Given the description of an element on the screen output the (x, y) to click on. 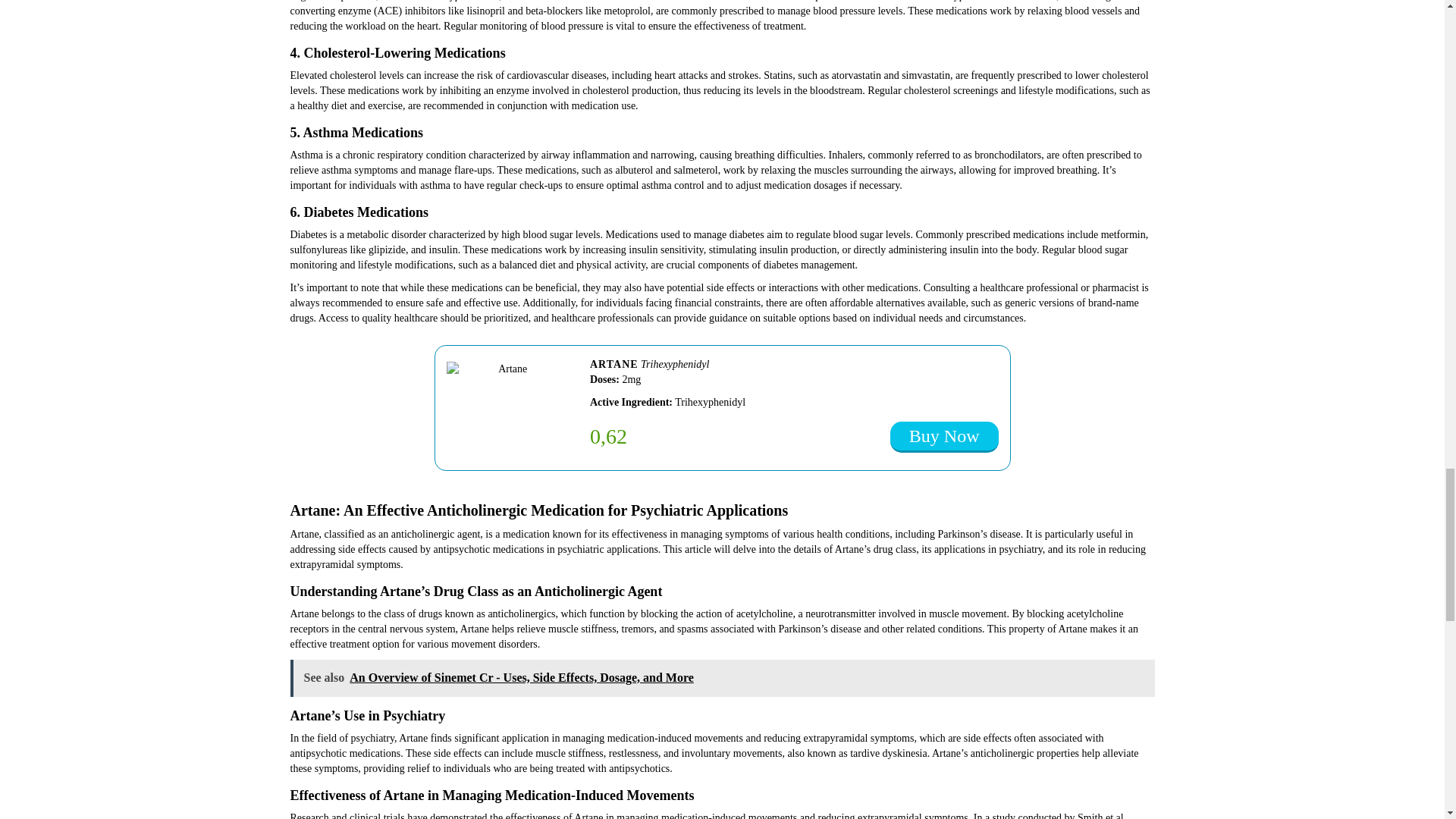
Buy Now (943, 436)
